Given the description of an element on the screen output the (x, y) to click on. 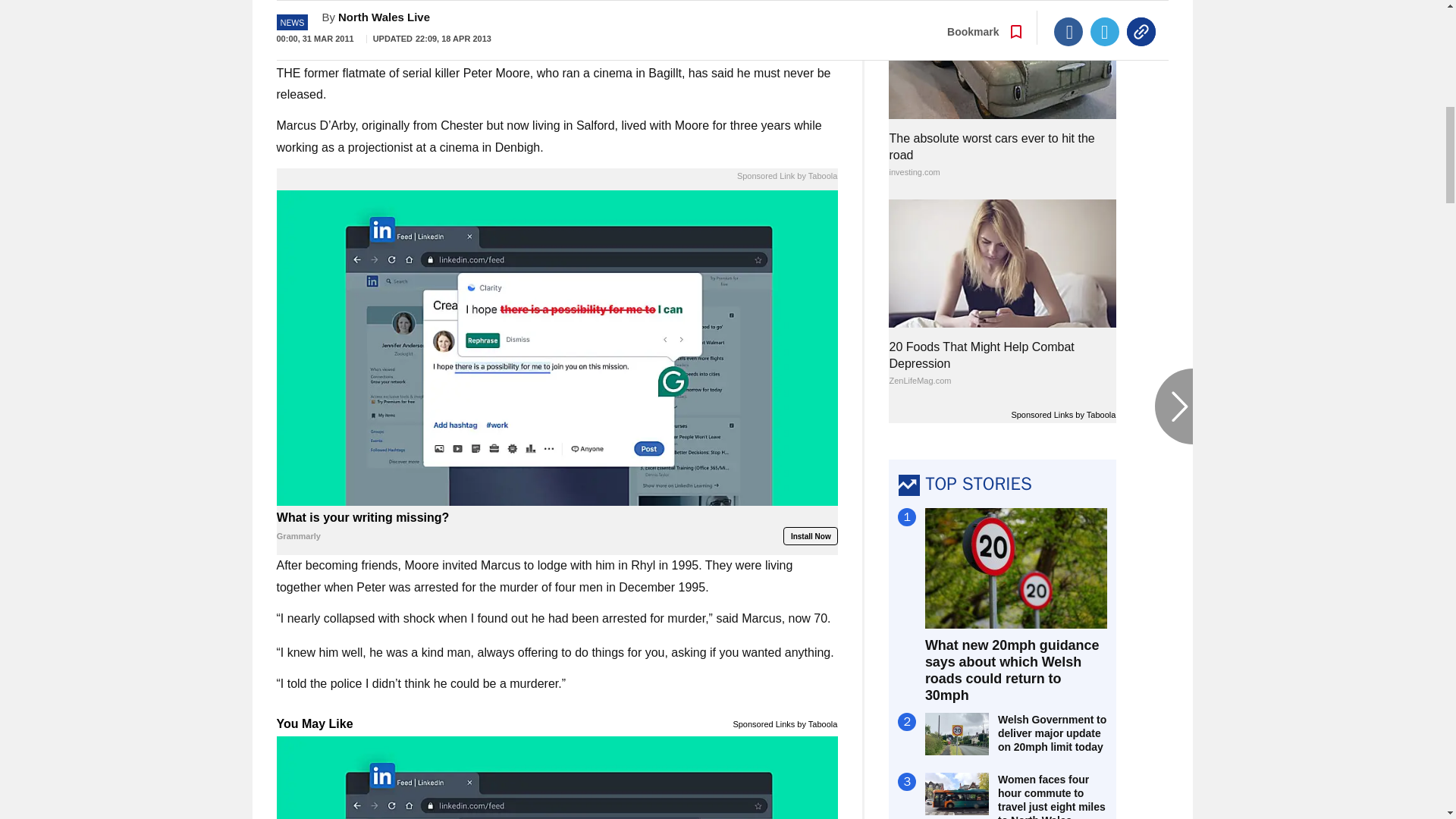
Go (730, 17)
What is your writing missing? (557, 527)
